Given the description of an element on the screen output the (x, y) to click on. 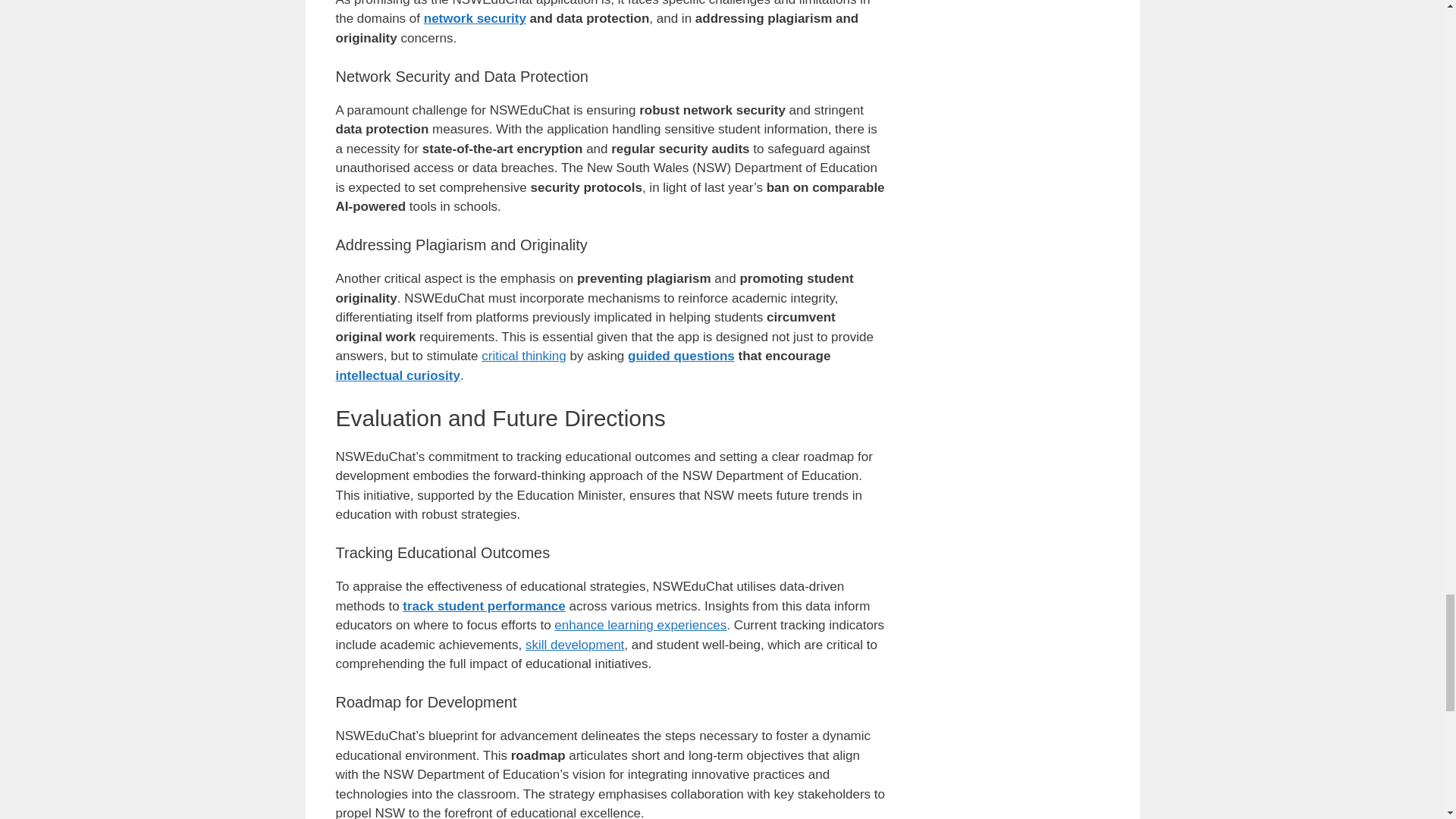
intellectual curiosity (397, 375)
guided questions (681, 355)
network security (474, 18)
critical thinking (523, 355)
track student performance (483, 605)
skill development (574, 644)
enhance learning experiences (640, 625)
